Given the description of an element on the screen output the (x, y) to click on. 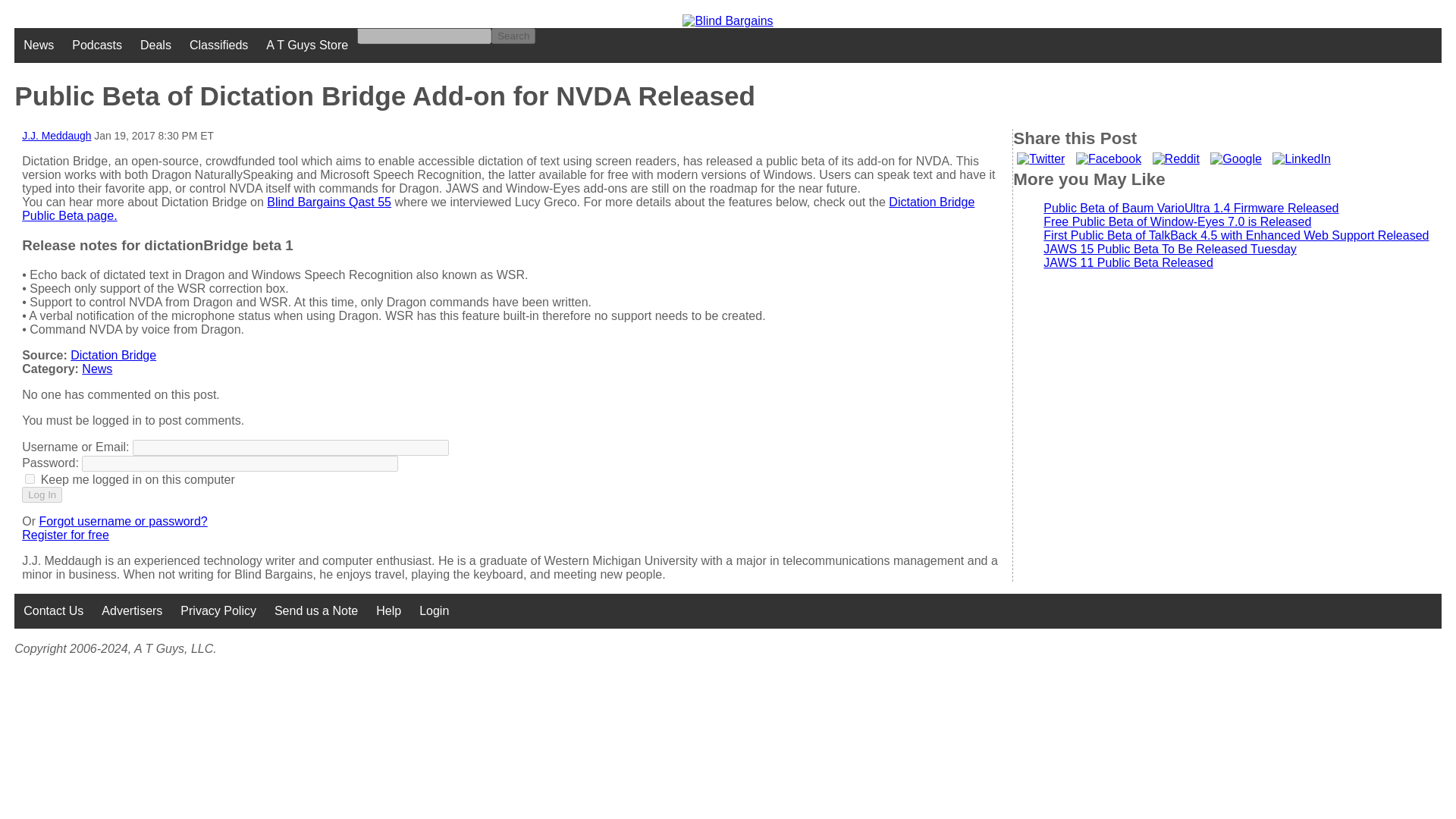
News (96, 368)
Help (388, 610)
Blind Bargains Qast 55 (328, 201)
Podcasts (96, 45)
Free Public Beta of Window-Eyes 7.0 is Released (1177, 221)
Log In (41, 494)
Register for free (65, 534)
Send us a Note (315, 610)
Classifieds (218, 45)
J.J. Meddaugh (55, 135)
